Given the description of an element on the screen output the (x, y) to click on. 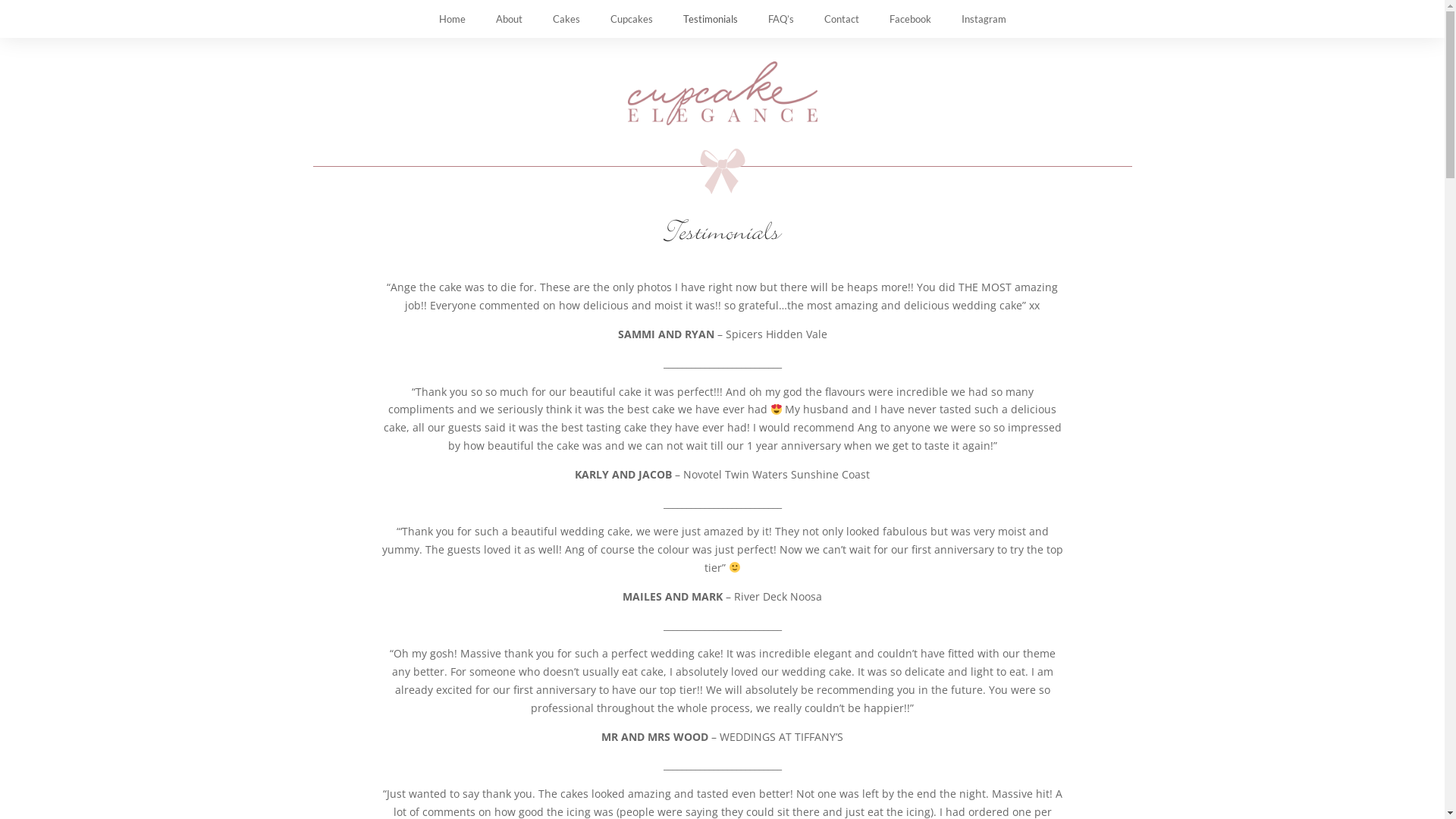
Testimonials Element type: text (709, 18)
Cakes Element type: text (565, 18)
About Element type: text (508, 18)
Contact Element type: text (840, 18)
Cupcakes Element type: text (630, 18)
Instagram Element type: text (983, 18)
Facebook Element type: text (909, 18)
Home Element type: text (451, 18)
